Given the description of an element on the screen output the (x, y) to click on. 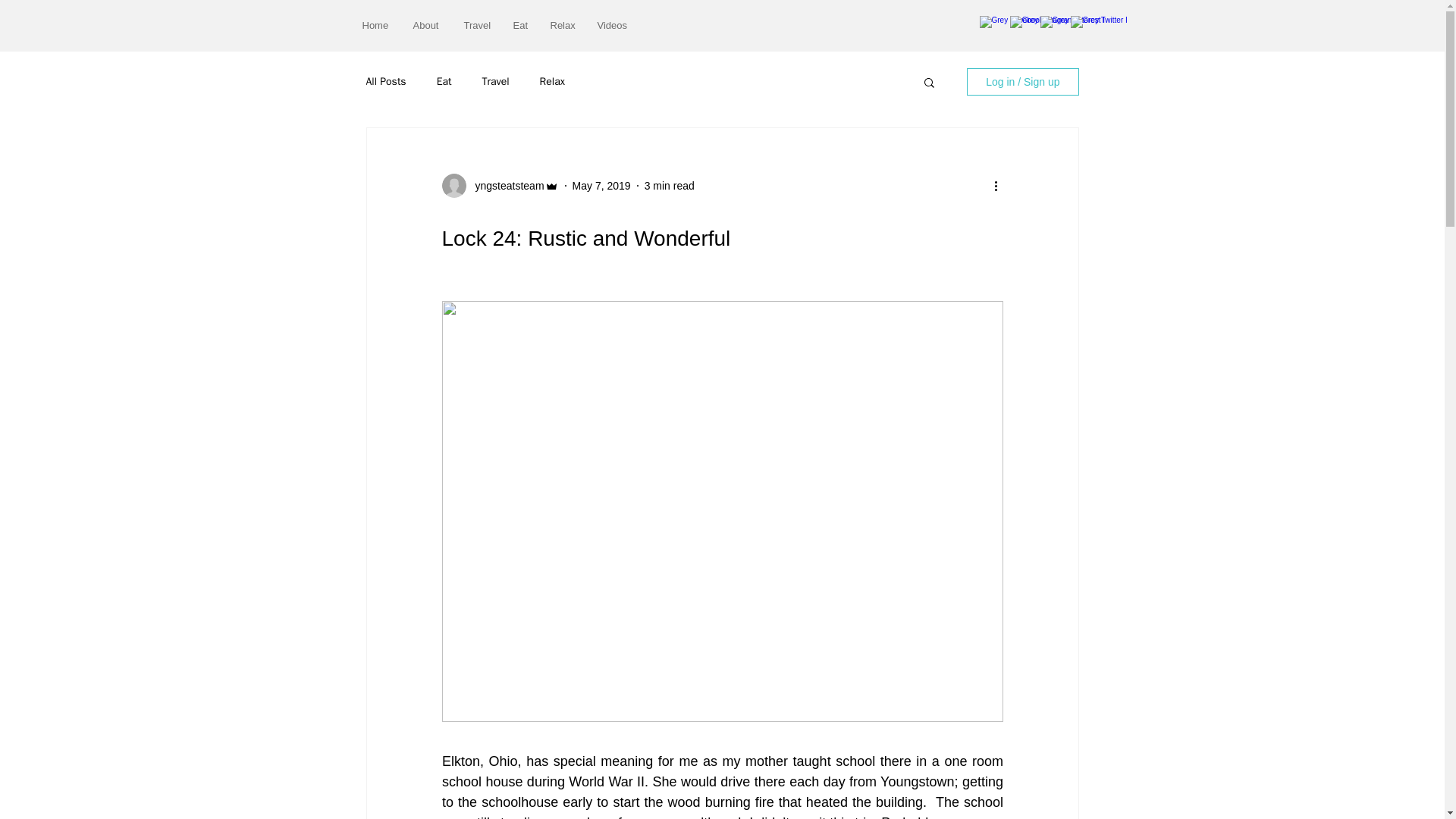
Videos (612, 25)
Eat (443, 81)
All Posts (385, 81)
About (426, 25)
Relax (552, 81)
Relax (561, 25)
3 min read (669, 184)
yngsteatsteam (504, 185)
Travel (475, 25)
Travel (495, 81)
